Given the description of an element on the screen output the (x, y) to click on. 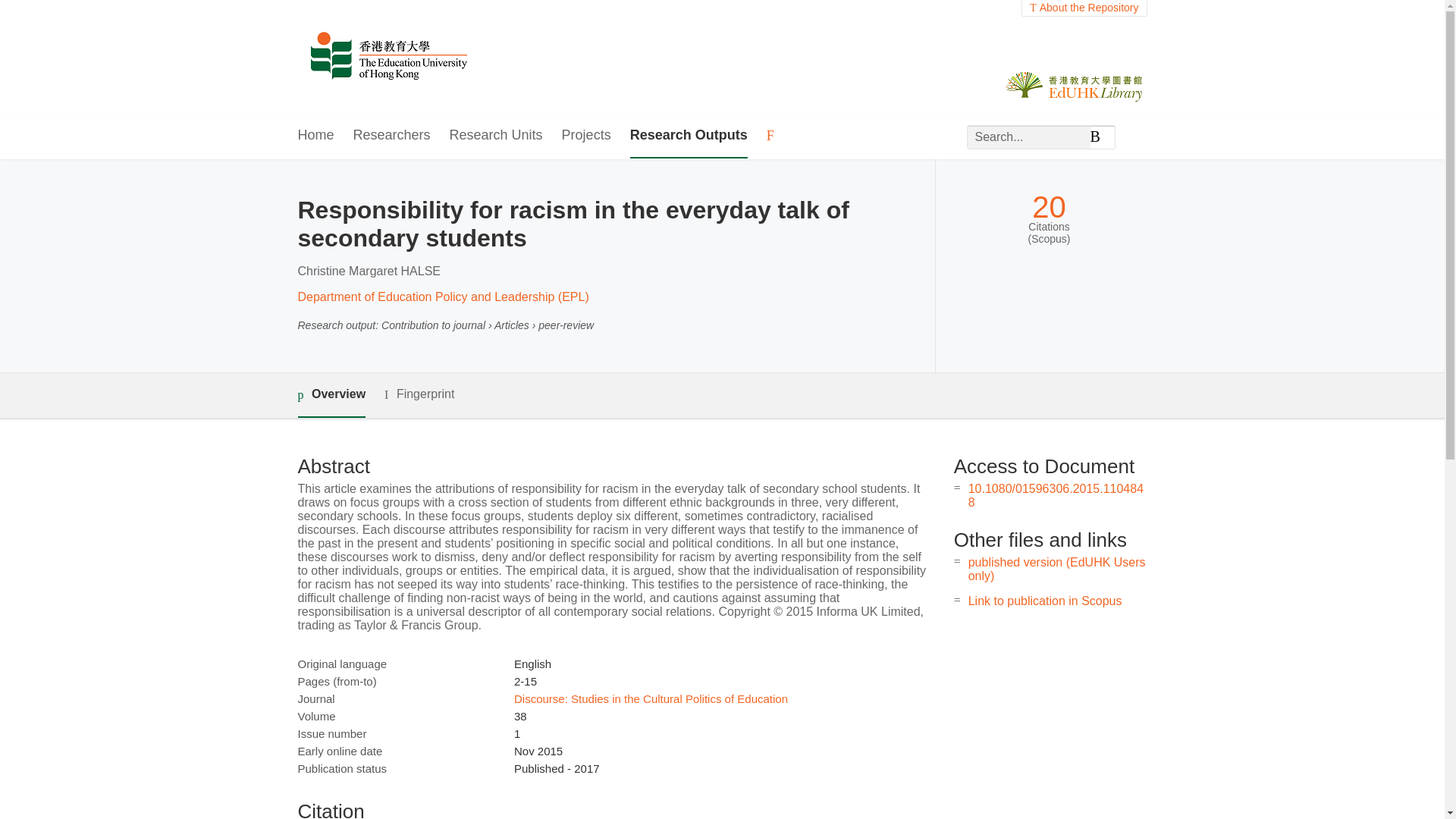
Overview (331, 395)
Link to publication in Scopus (1045, 600)
About the Repository (1083, 7)
Researchers (391, 135)
Projects (586, 135)
Fingerprint (419, 394)
Discourse: Studies in the Cultural Politics of Education (650, 698)
20 (1048, 207)
EdUHK Research Repository Home (388, 56)
Research Outputs (689, 135)
Research Units (496, 135)
